Given the description of an element on the screen output the (x, y) to click on. 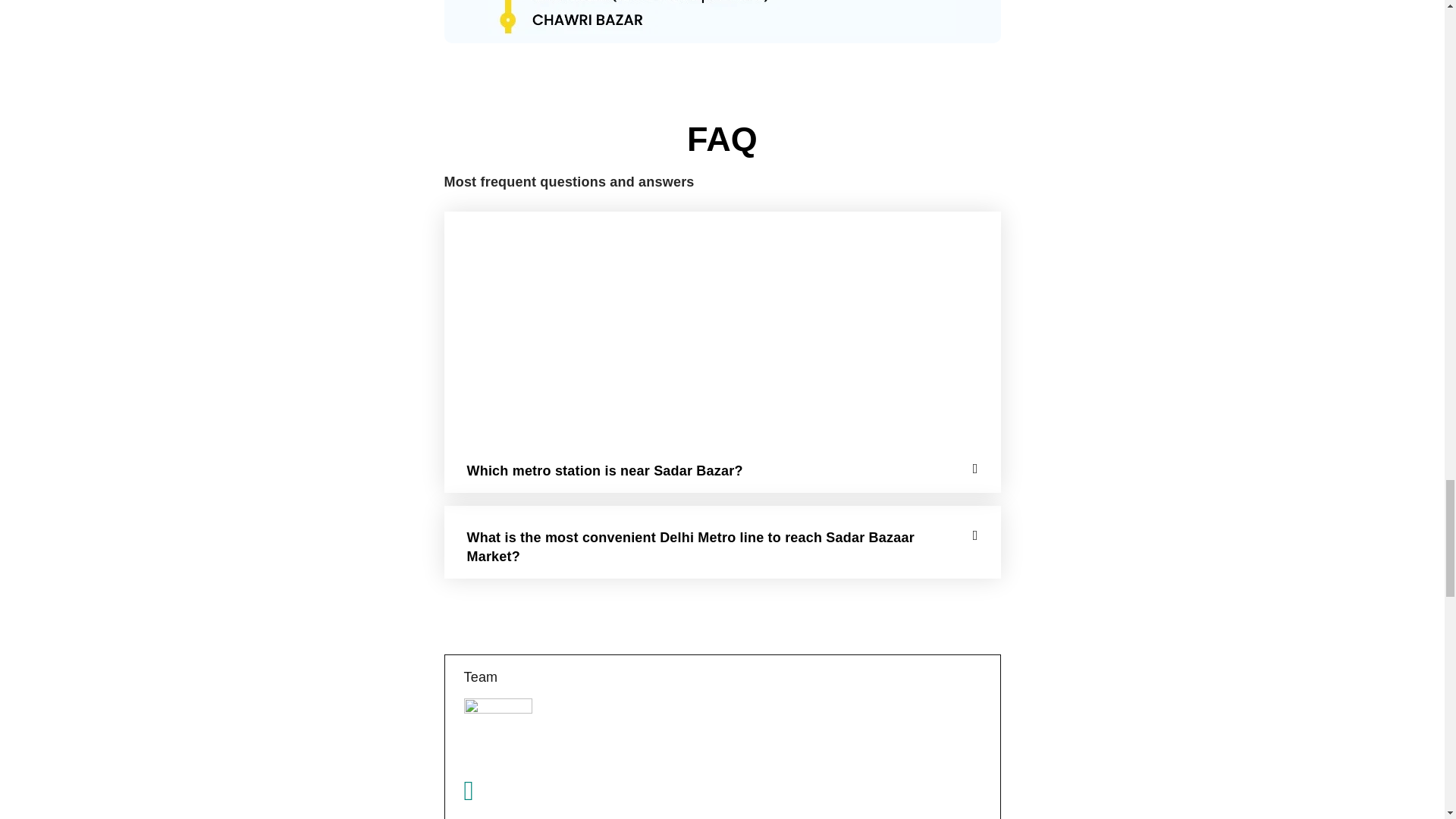
Which metro station is near Sadar Bazar? (604, 470)
